Given the description of an element on the screen output the (x, y) to click on. 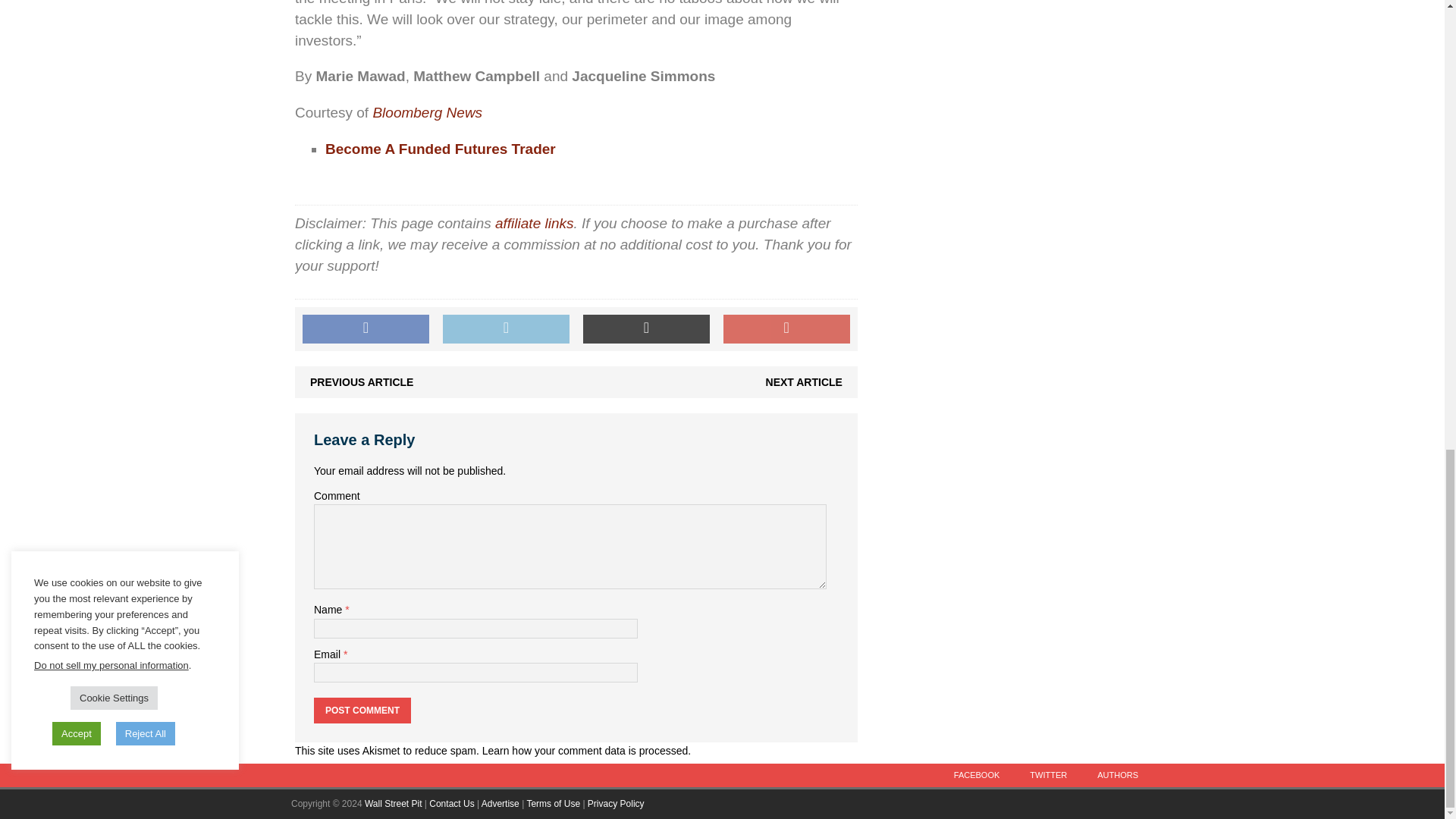
Bloomberg News (426, 112)
Share on Reddit (646, 328)
Tweet This Post (505, 328)
Post Comment (362, 710)
Share on Facebook (365, 328)
